Given the description of an element on the screen output the (x, y) to click on. 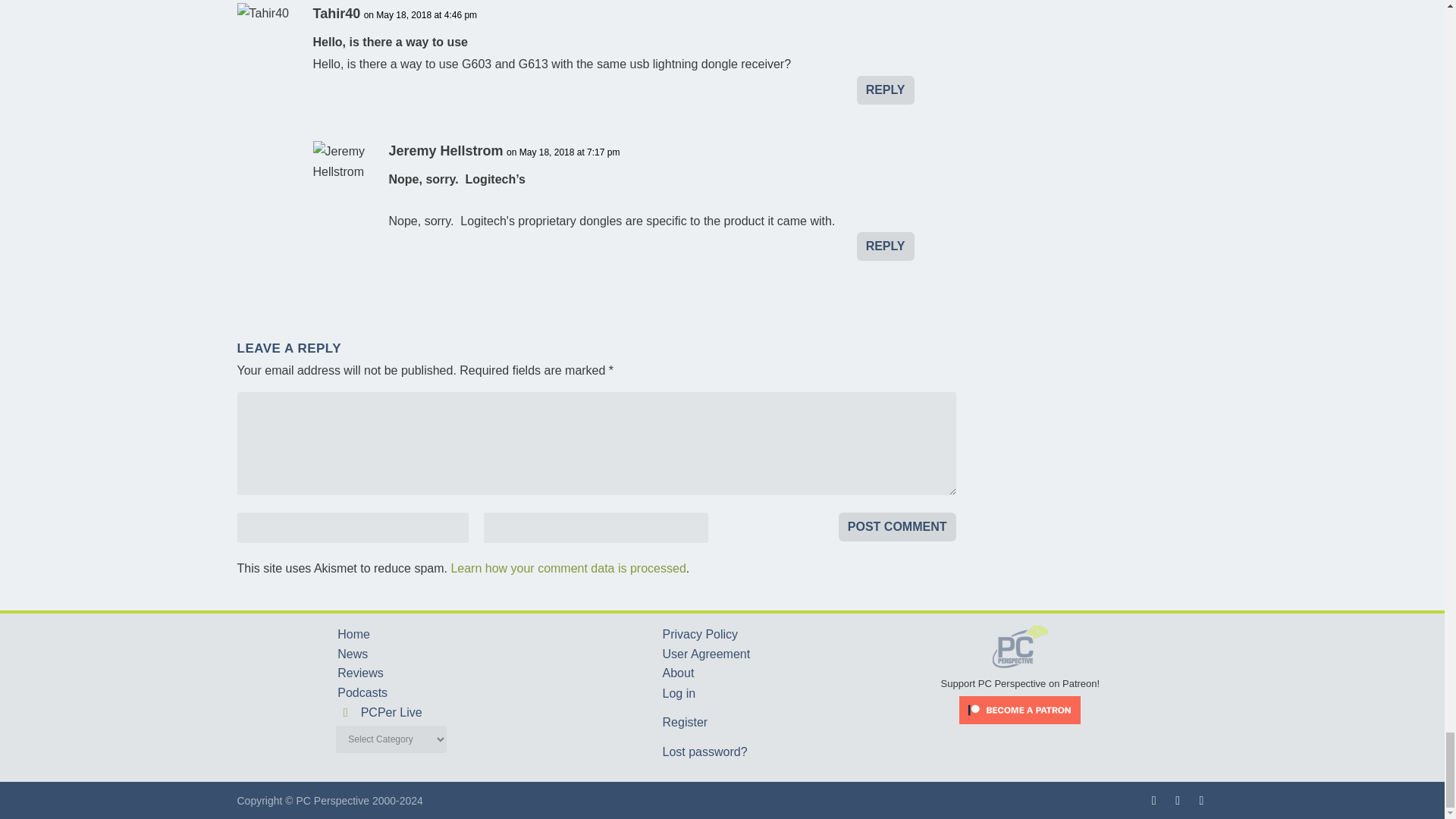
Support PC Perspective on Patreon! (1020, 676)
Post Comment (897, 526)
